Given the description of an element on the screen output the (x, y) to click on. 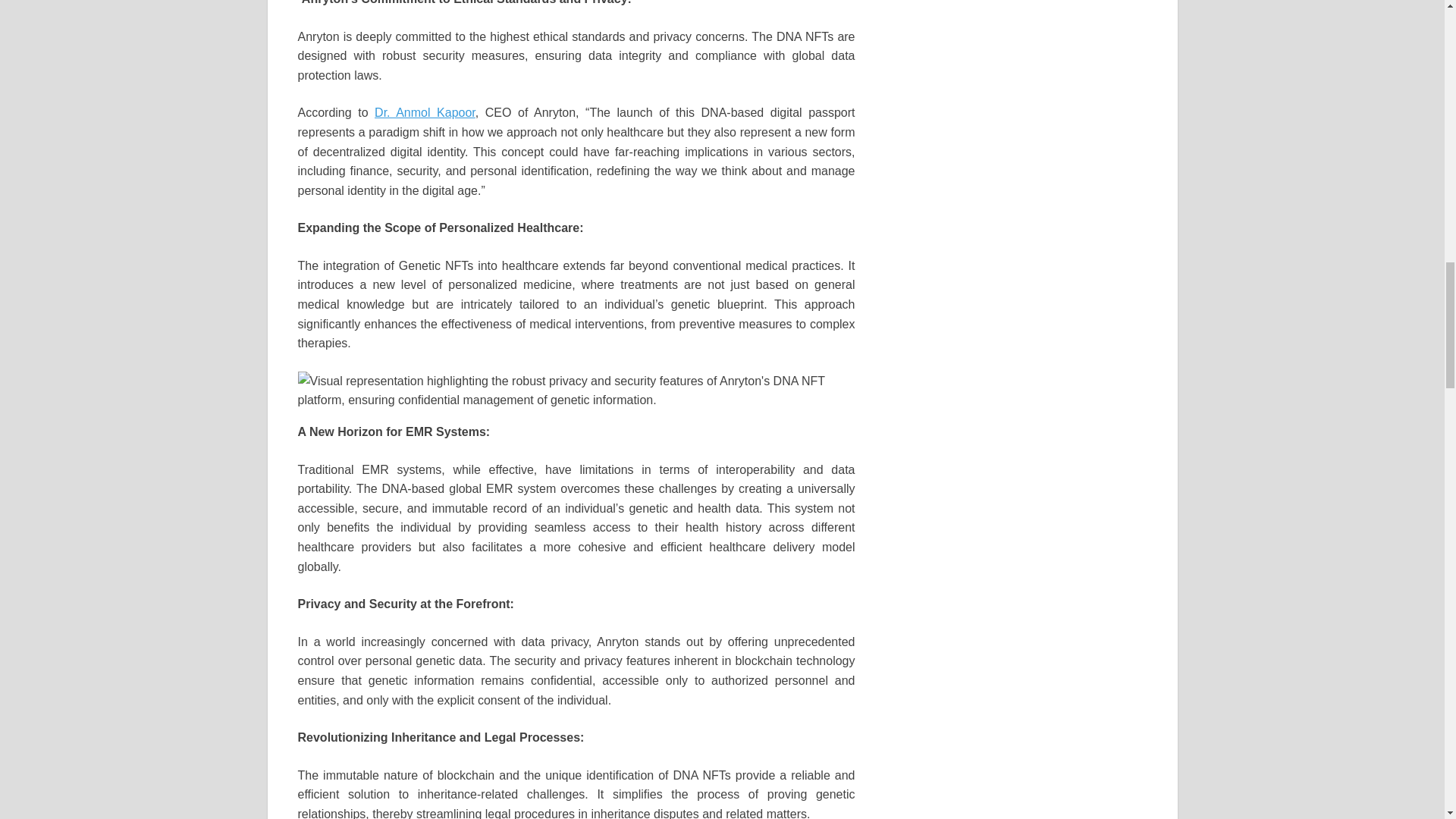
Dr. Anmol Kapoor (425, 112)
